Given the description of an element on the screen output the (x, y) to click on. 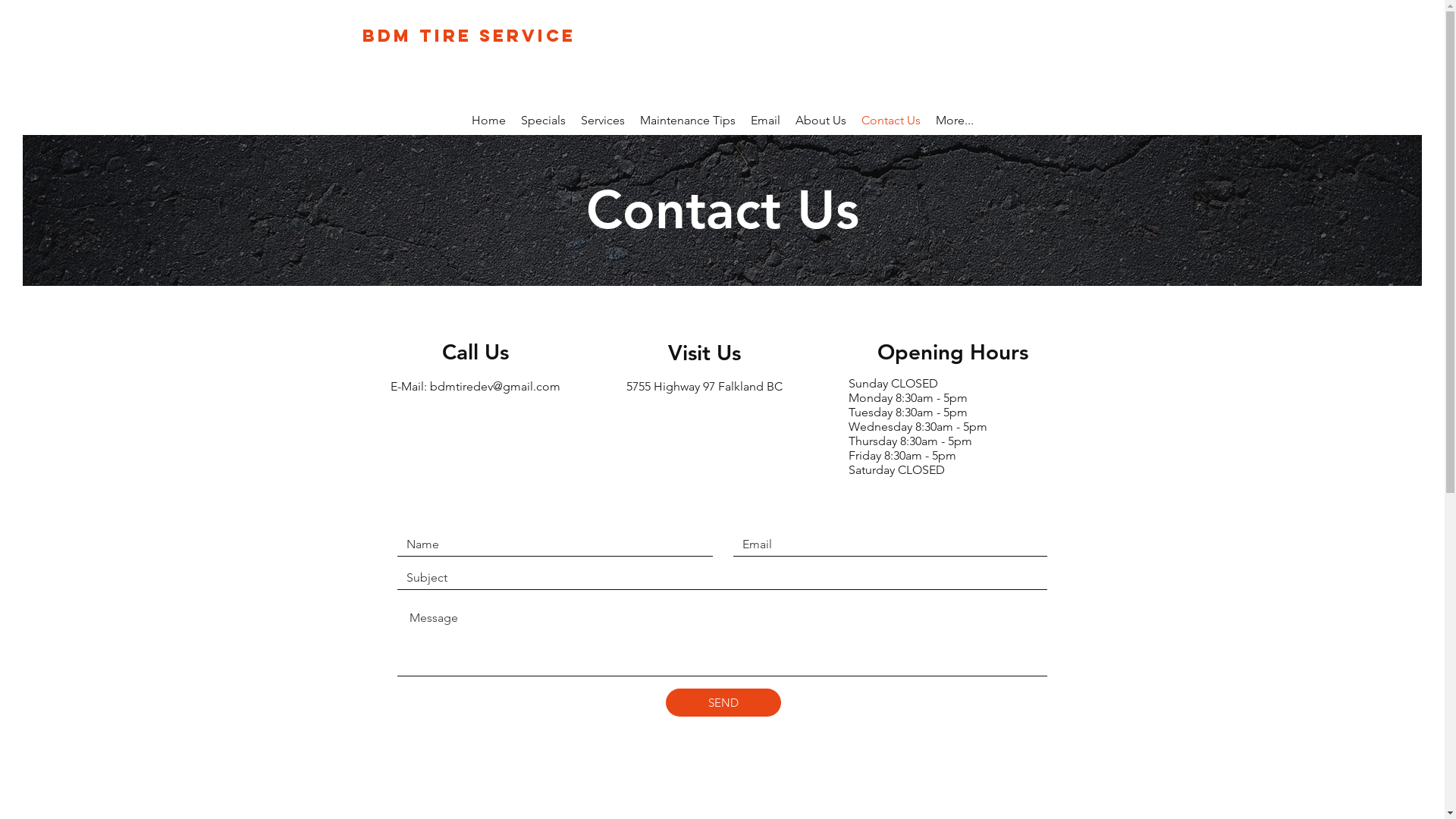
Contact Us Element type: text (890, 123)
Email Element type: text (765, 123)
BDM Tire SERVICE Element type: text (468, 35)
Services Element type: text (602, 123)
E-Mail: bdmtiredev@gmail.com Element type: text (474, 386)
SEND Element type: text (723, 702)
Home Element type: text (488, 123)
About Us Element type: text (820, 123)
Specials Element type: text (542, 123)
